Given the description of an element on the screen output the (x, y) to click on. 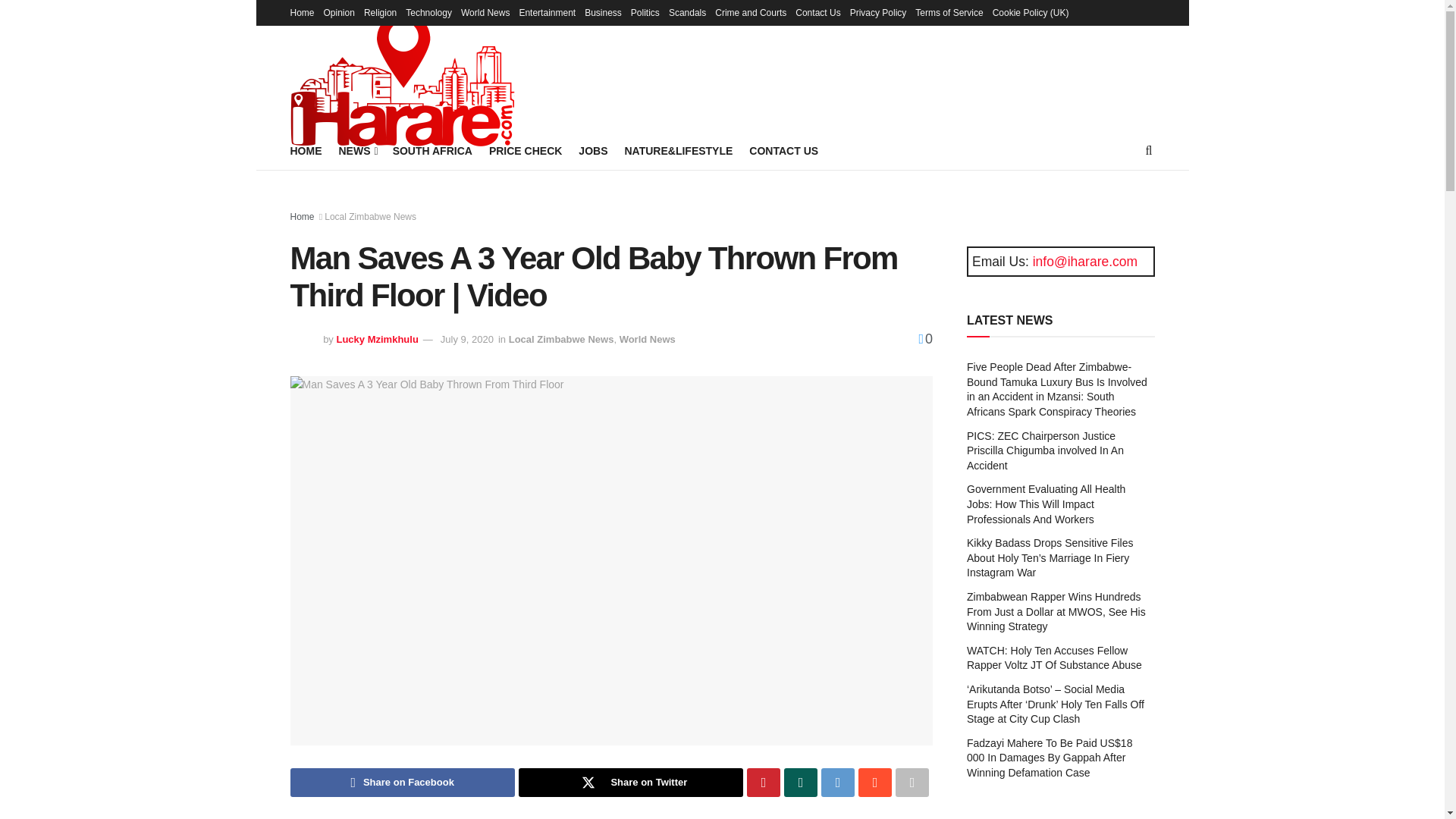
SOUTH AFRICA (432, 150)
Religion (380, 12)
NEWS (356, 150)
Politics (644, 12)
Entertainment (546, 12)
Business (603, 12)
HOME (305, 150)
Crime and Courts (750, 12)
World News (485, 12)
Opinion (339, 12)
